Given the description of an element on the screen output the (x, y) to click on. 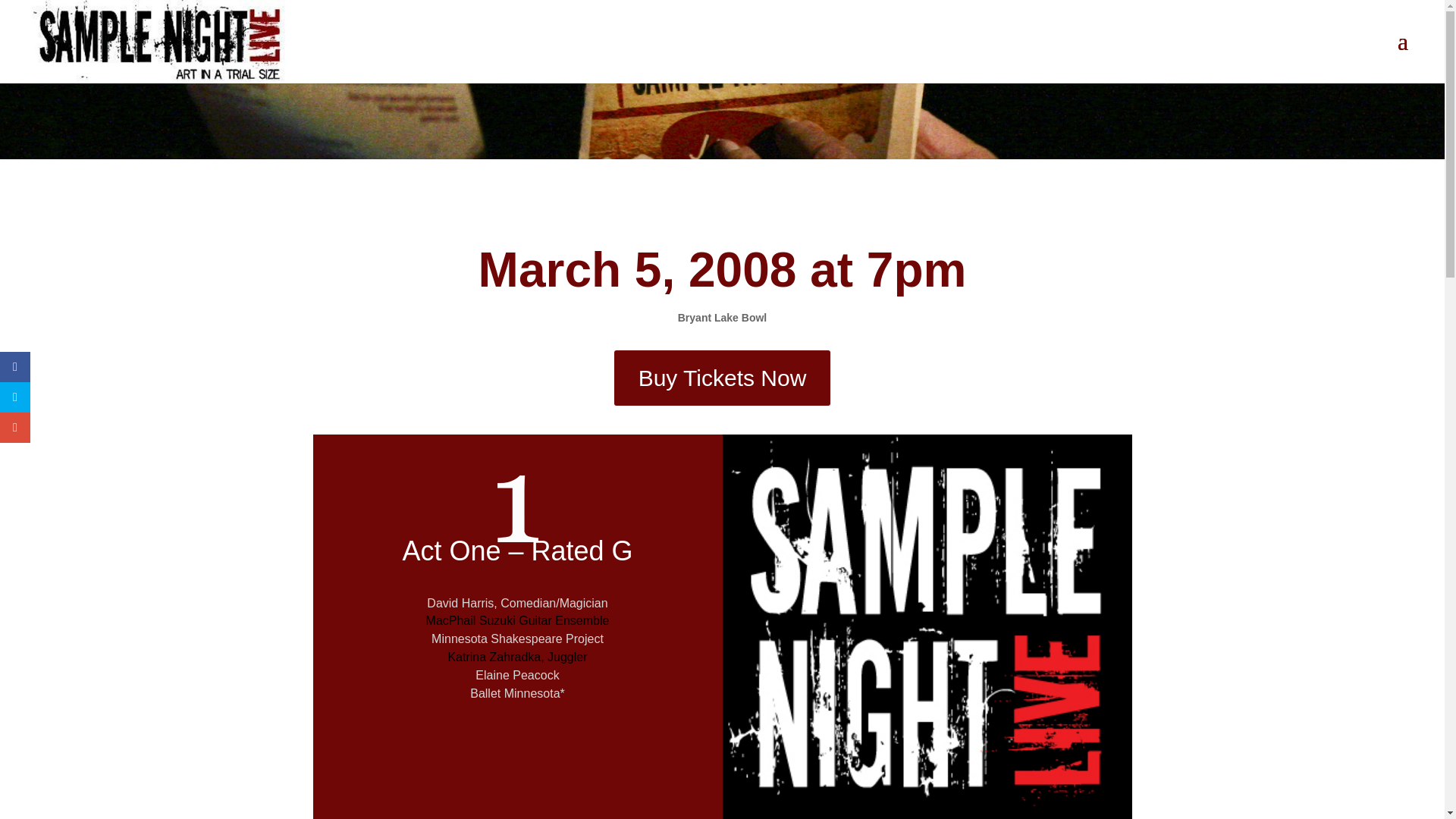
Buy Tickets Now (722, 377)
Katrina Zahradka, Juggler (524, 665)
MacPhail Suzuki Guitar Ensemble (518, 629)
Minnesota Shakespeare Project (517, 638)
Elaine Peacock (517, 675)
